Given the description of an element on the screen output the (x, y) to click on. 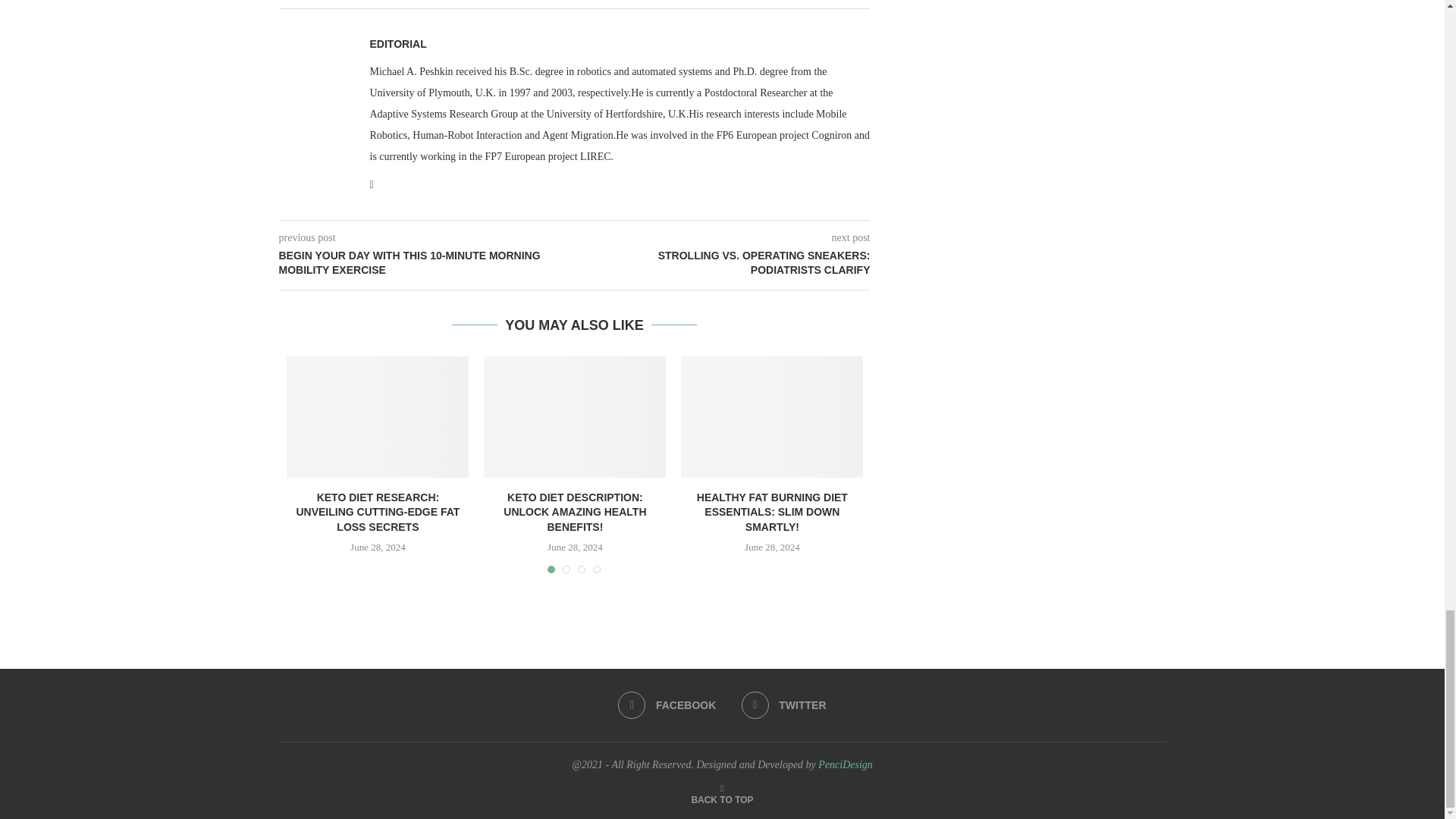
Keto Diet Research: Unveiling Cutting-Edge Fat Loss Secrets (377, 416)
STROLLING VS. OPERATING SNEAKERS: PODIATRISTS CLARIFY (722, 263)
EDITORIAL (397, 43)
BEGIN YOUR DAY WITH THIS 10-MINUTE MORNING MOBILITY EXERCISE (427, 263)
Keto Diet Description: Unlock Amazing Health Benefits! (574, 416)
Healthy Fat Burning Diet Essentials: Slim Down Smartly! (772, 416)
Author Editorial (397, 43)
